Given the description of an element on the screen output the (x, y) to click on. 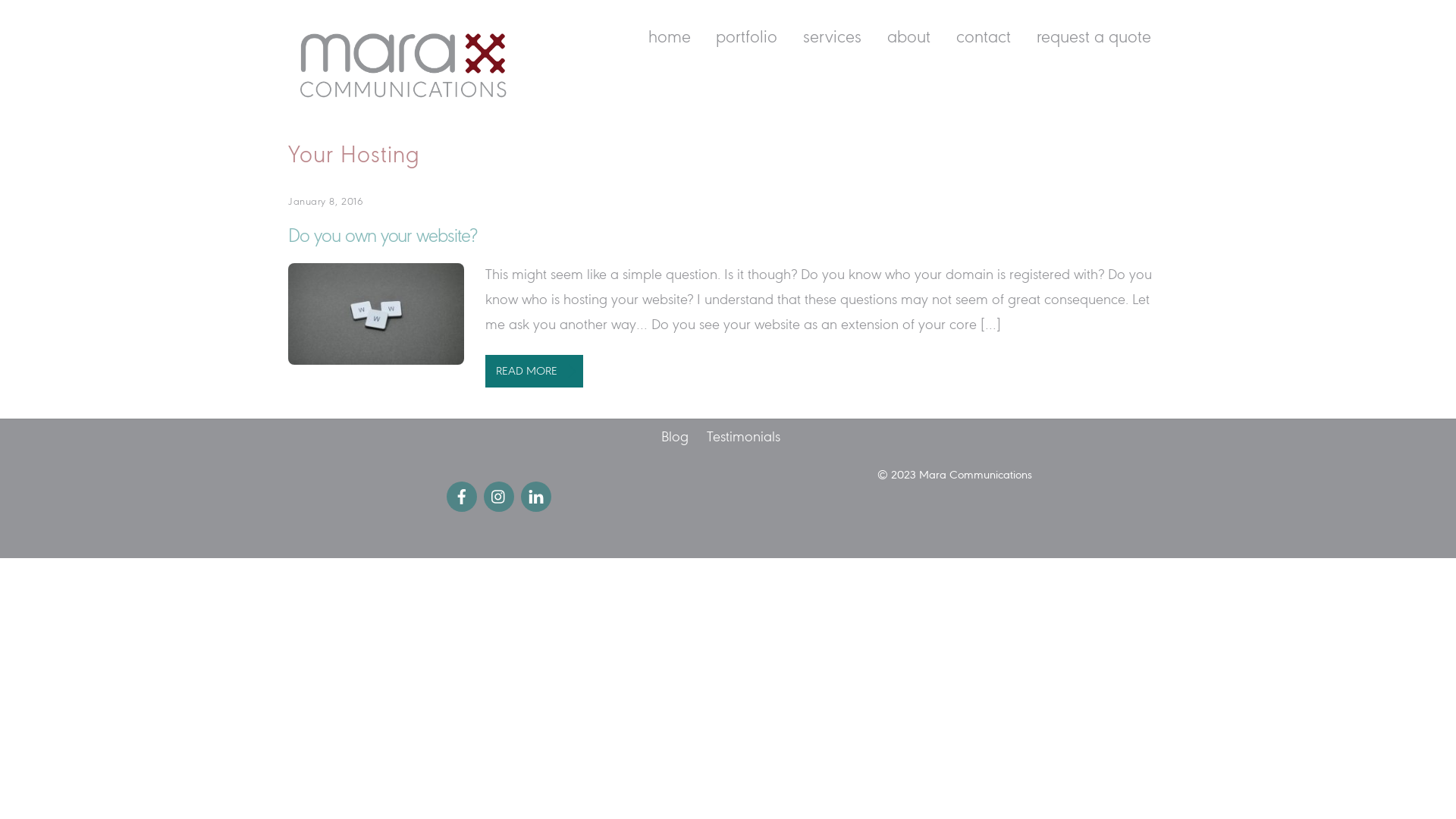
Ownership Element type: hover (376, 313)
about Element type: text (908, 38)
Mara logo RGB transparent SML Element type: hover (401, 63)
portfolio Element type: text (746, 38)
Blog Element type: text (674, 437)
READ MORE Element type: text (534, 370)
Mara Communications Element type: hover (401, 102)
contact Element type: text (982, 38)
home Element type: text (669, 38)
Testimonials Element type: text (743, 437)
request a quote Element type: text (1093, 38)
services Element type: text (832, 38)
